Given the description of an element on the screen output the (x, y) to click on. 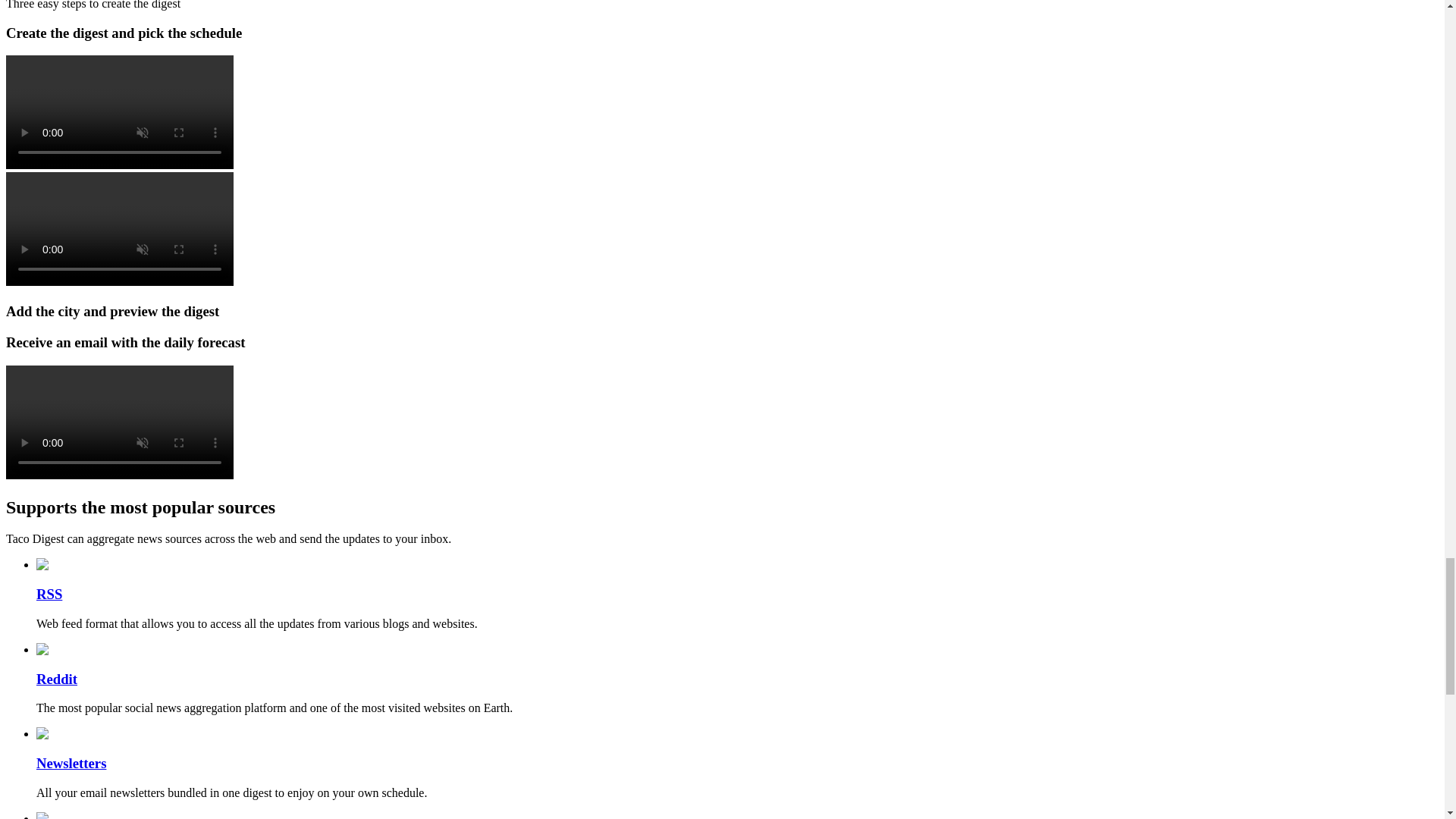
RSS (49, 593)
Newsletters (71, 763)
Reddit (56, 678)
